Given the description of an element on the screen output the (x, y) to click on. 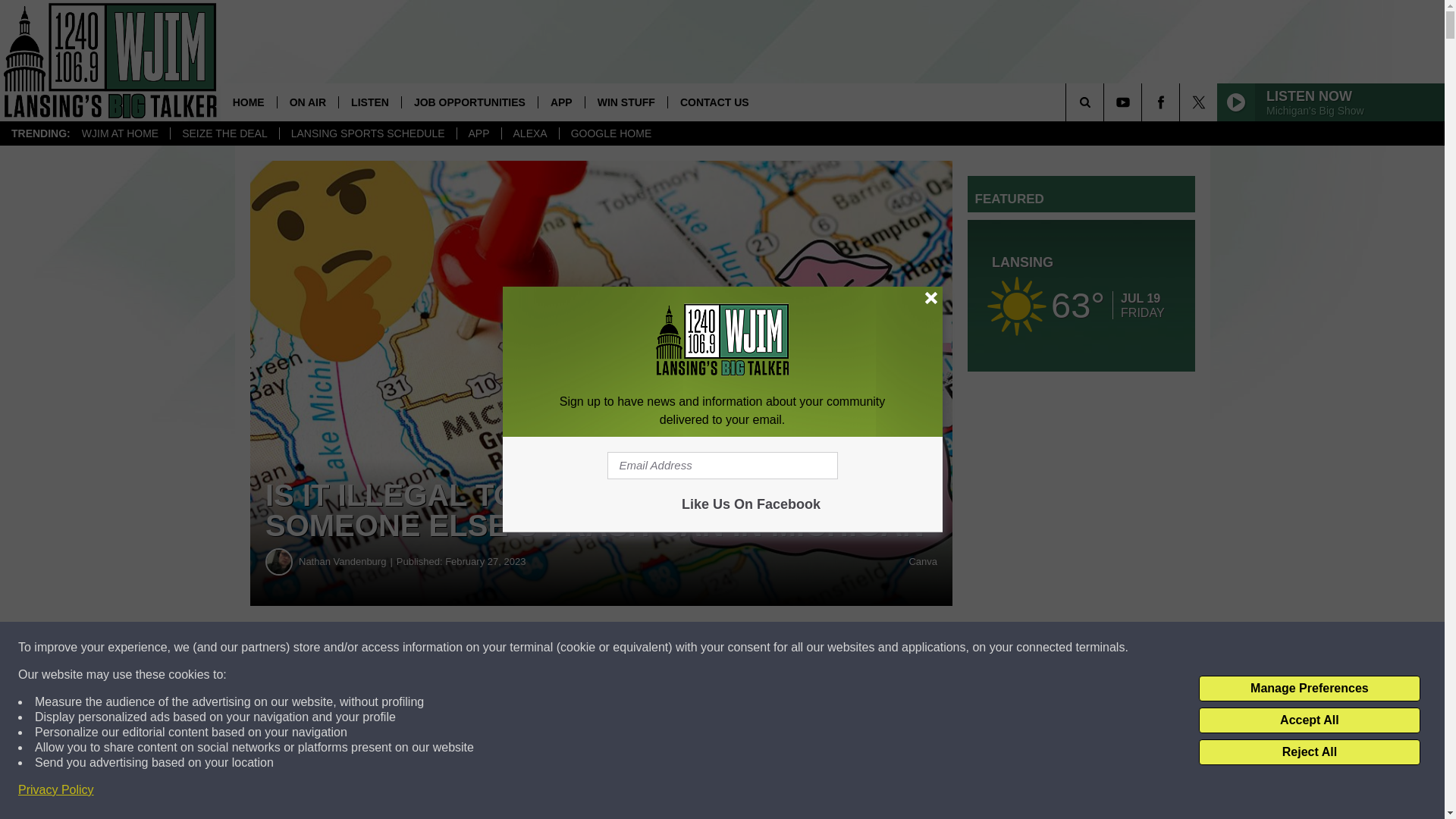
GOOGLE HOME (611, 133)
CONTACT US (713, 102)
Manage Preferences (1309, 688)
APP (561, 102)
Accept All (1309, 720)
ON AIR (306, 102)
Privacy Policy (55, 789)
Lansing Weather (1081, 295)
ALEXA (529, 133)
Share on Twitter (741, 647)
SEIZE THE DEAL (224, 133)
LISTEN (369, 102)
Share on Facebook (460, 647)
Email Address (722, 465)
SEARCH (1106, 102)
